Given the description of an element on the screen output the (x, y) to click on. 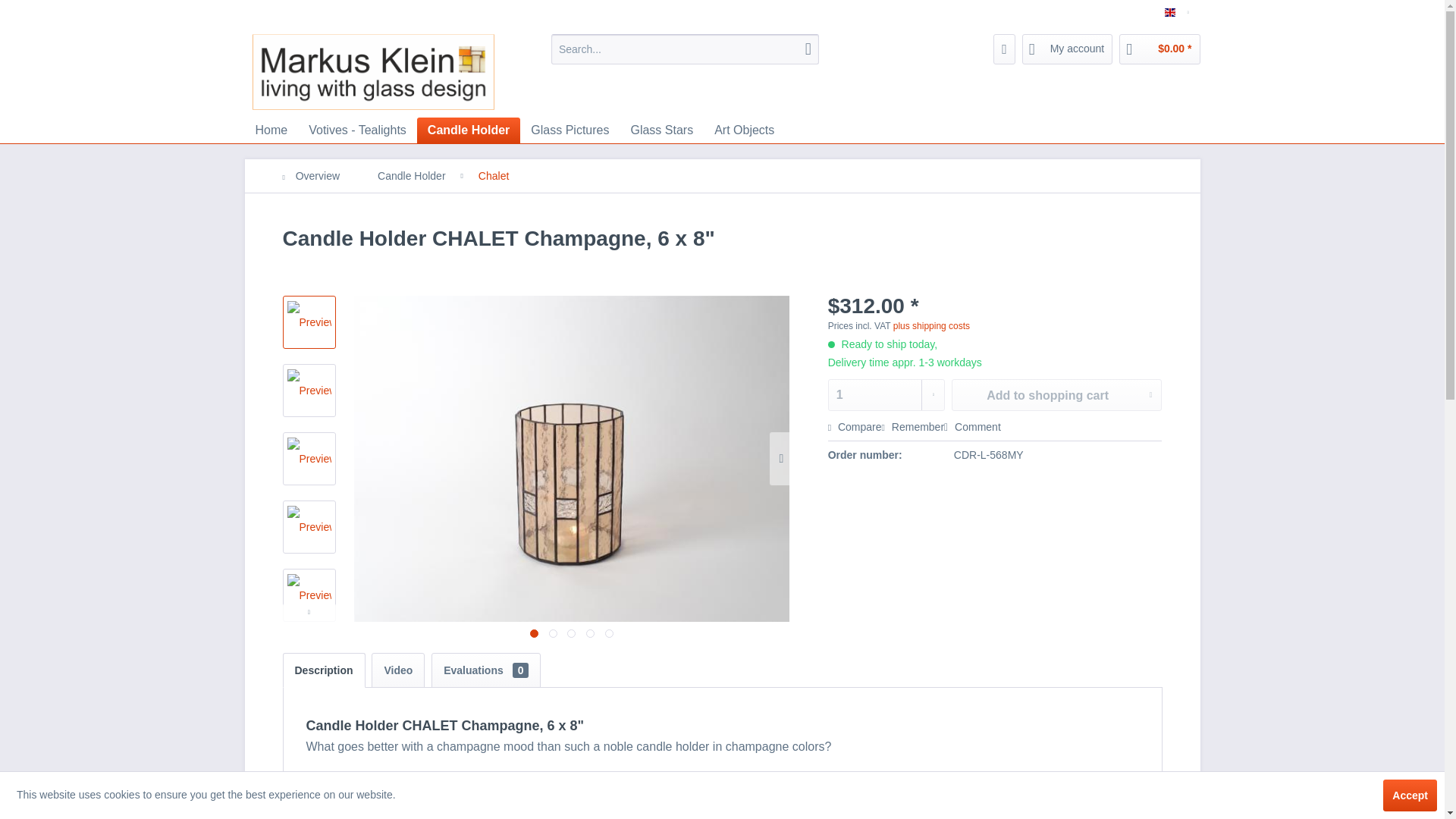
Art Objects (743, 130)
Glass Stars (661, 130)
Candle Holder (467, 130)
Glass Pictures (569, 130)
Chalet (493, 175)
Shopping cart (1159, 49)
Overview (318, 175)
Glasstudio Markus Klein - Switch to homepage (391, 71)
My account (1067, 49)
Candle Holder (467, 130)
